Given the description of an element on the screen output the (x, y) to click on. 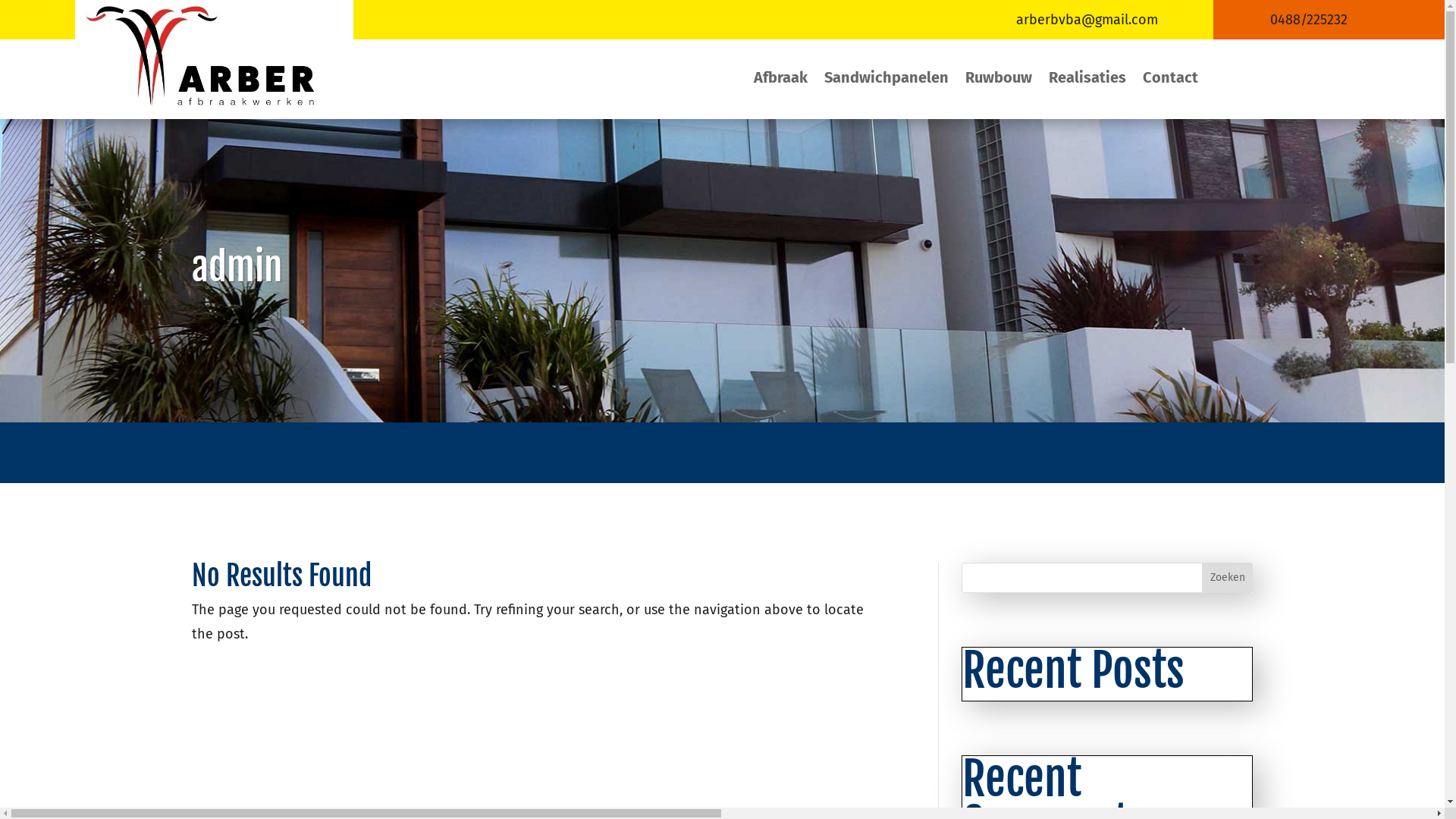
Sandwichpanelen Element type: text (886, 80)
Afbraak Element type: text (780, 80)
Ruwbouw Element type: text (998, 80)
Zoeken Element type: text (1227, 577)
Realisaties Element type: text (1087, 80)
Contact Element type: text (1170, 80)
